Given the description of an element on the screen output the (x, y) to click on. 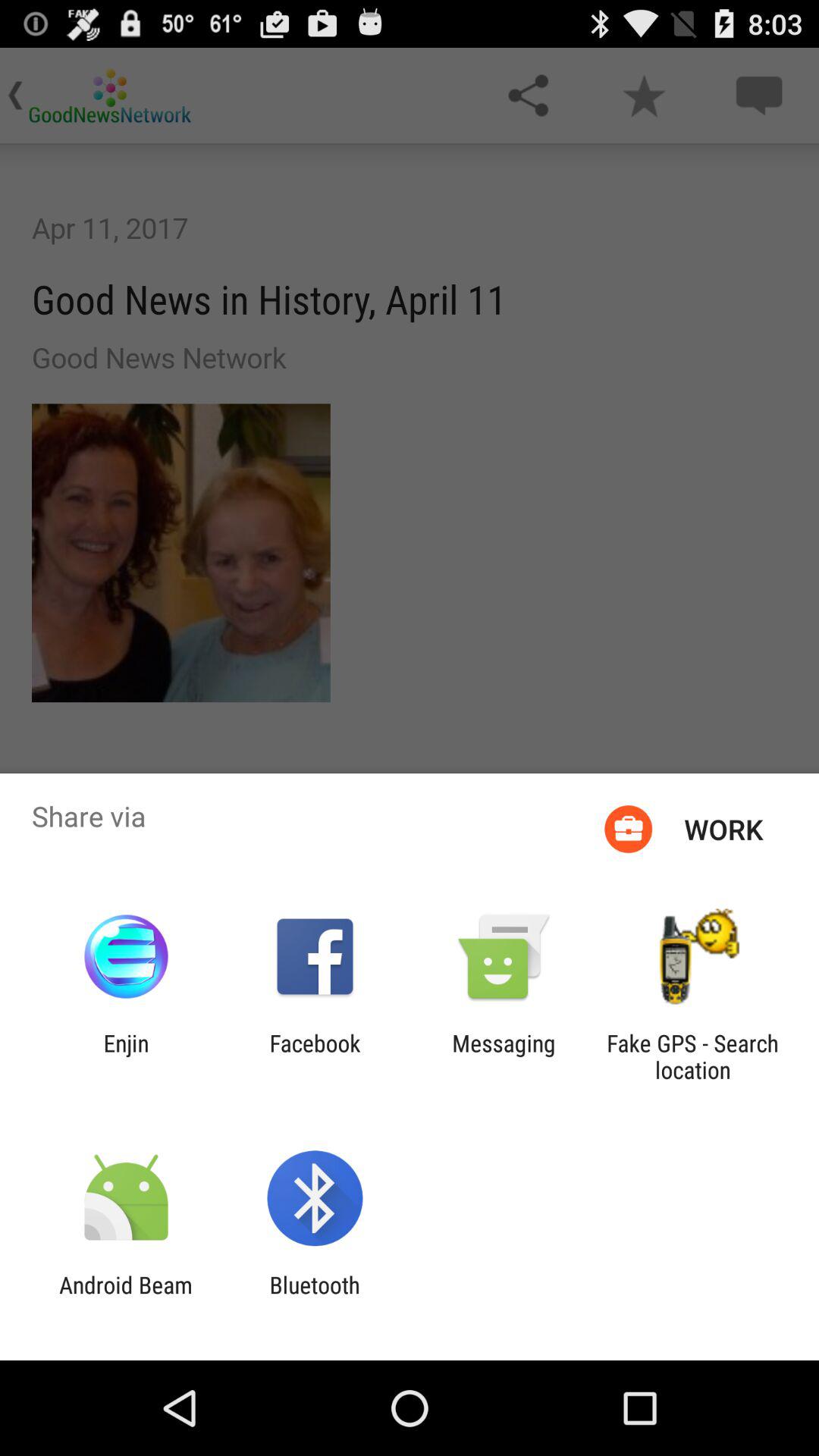
jump to enjin icon (126, 1056)
